Given the description of an element on the screen output the (x, y) to click on. 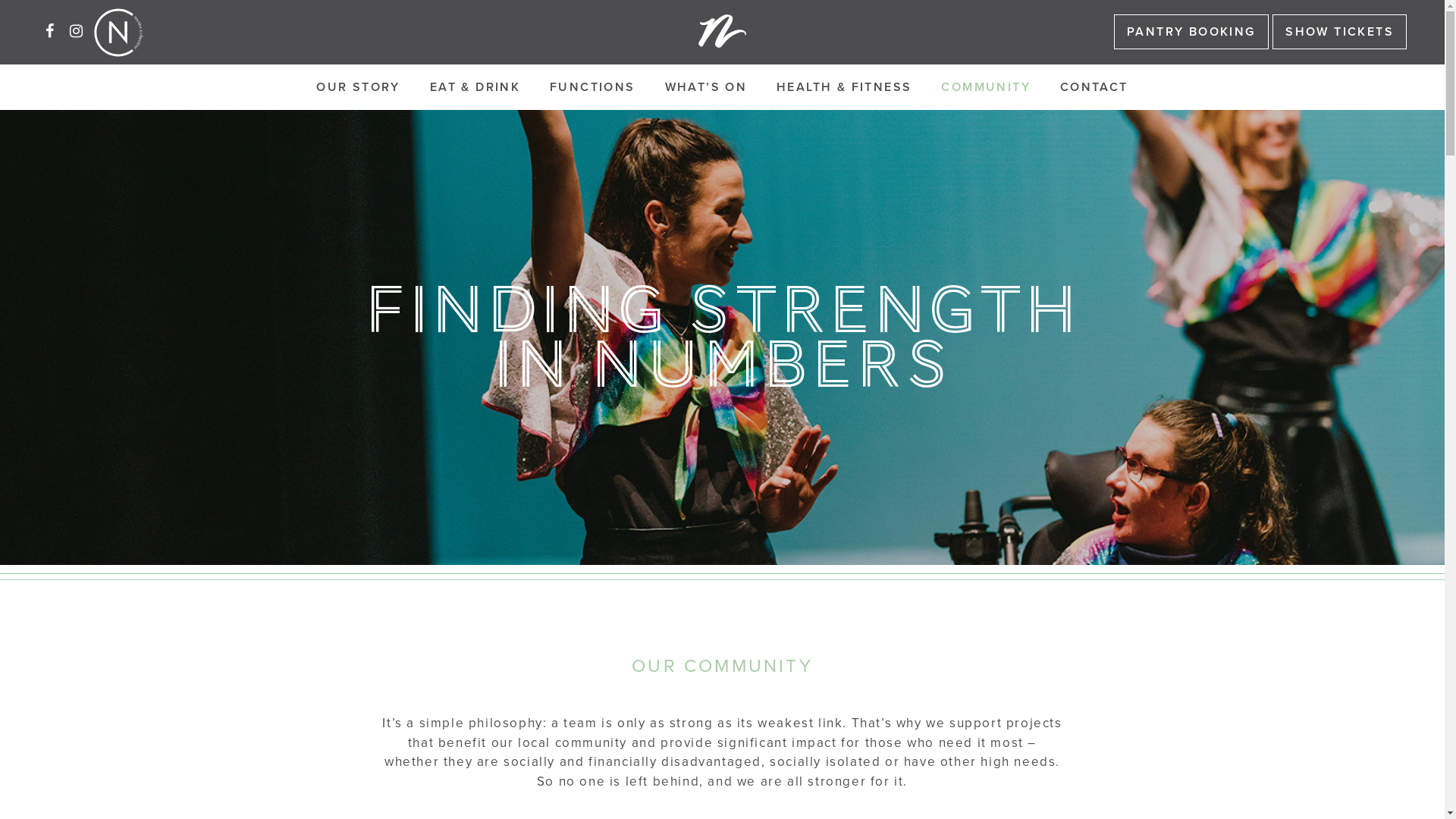
EAT & DRINK Element type: text (474, 86)
PANTRY BOOKING Element type: text (1190, 31)
OUR STORY Element type: text (358, 86)
SHOW TICKETS Element type: text (1339, 31)
Norths Element type: text (722, 30)
CONTACT Element type: text (1094, 86)
HEALTH & FITNESS Element type: text (843, 86)
COMMUNITY Element type: text (985, 86)
FUNCTIONS Element type: text (592, 86)
